Given the description of an element on the screen output the (x, y) to click on. 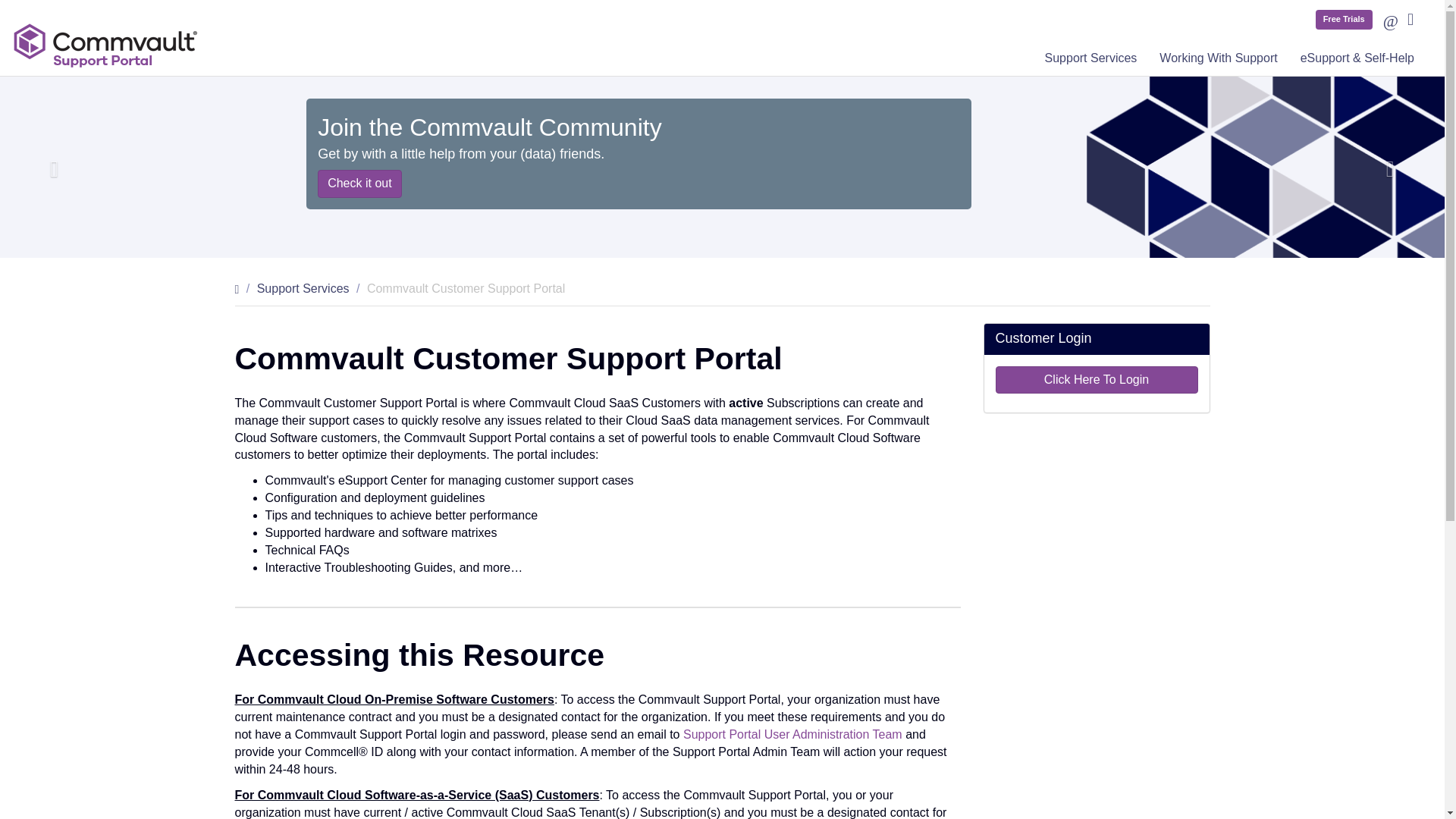
Support Services (1090, 55)
Free Trials (1344, 19)
Working With Support (1218, 55)
Check it out (359, 183)
Support Services (303, 287)
Support Portal User Administration Team (792, 734)
